Given the description of an element on the screen output the (x, y) to click on. 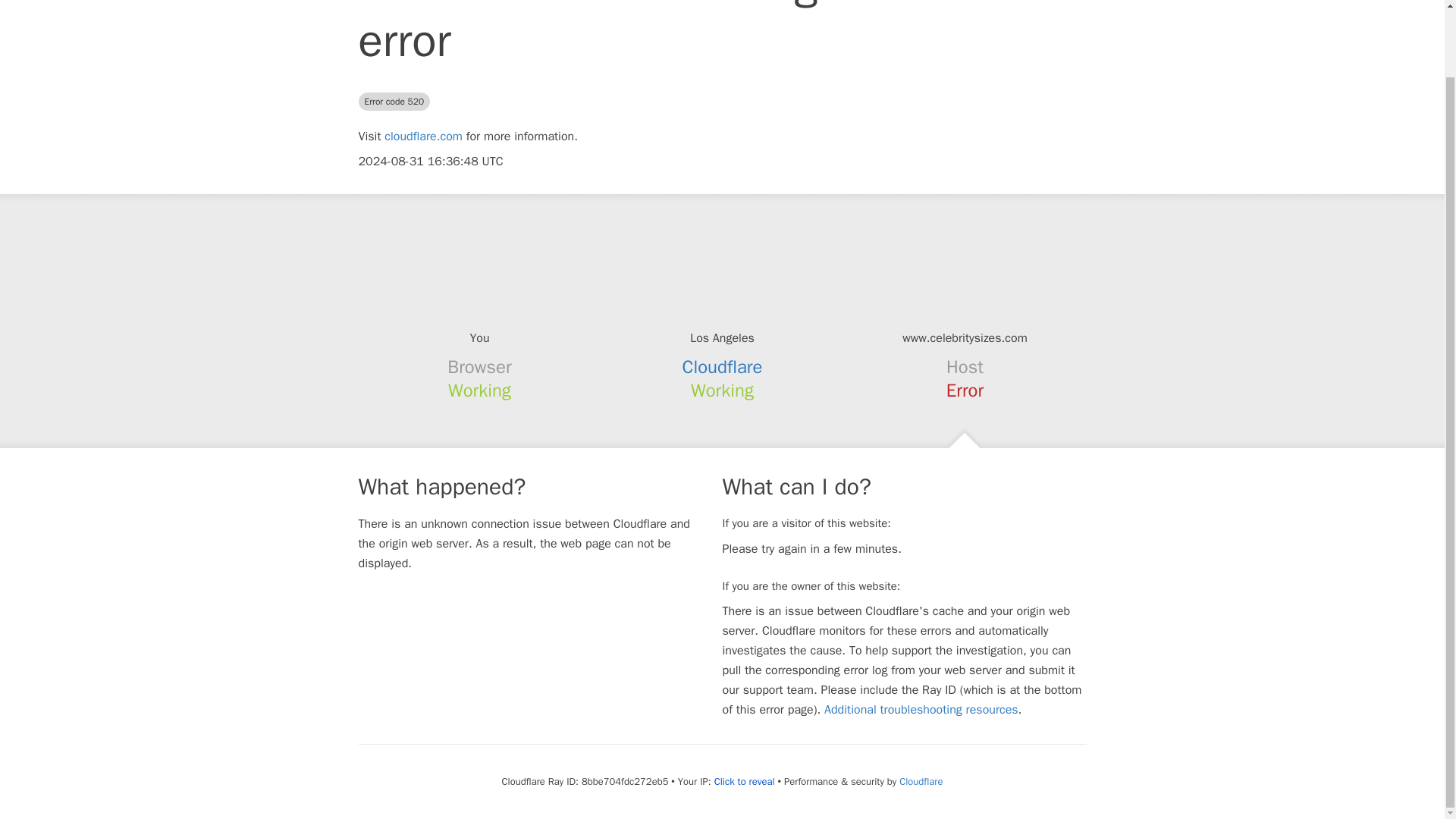
Click to reveal (744, 781)
Cloudflare (920, 780)
Cloudflare (722, 366)
Additional troubleshooting resources (920, 709)
cloudflare.com (423, 136)
